Given the description of an element on the screen output the (x, y) to click on. 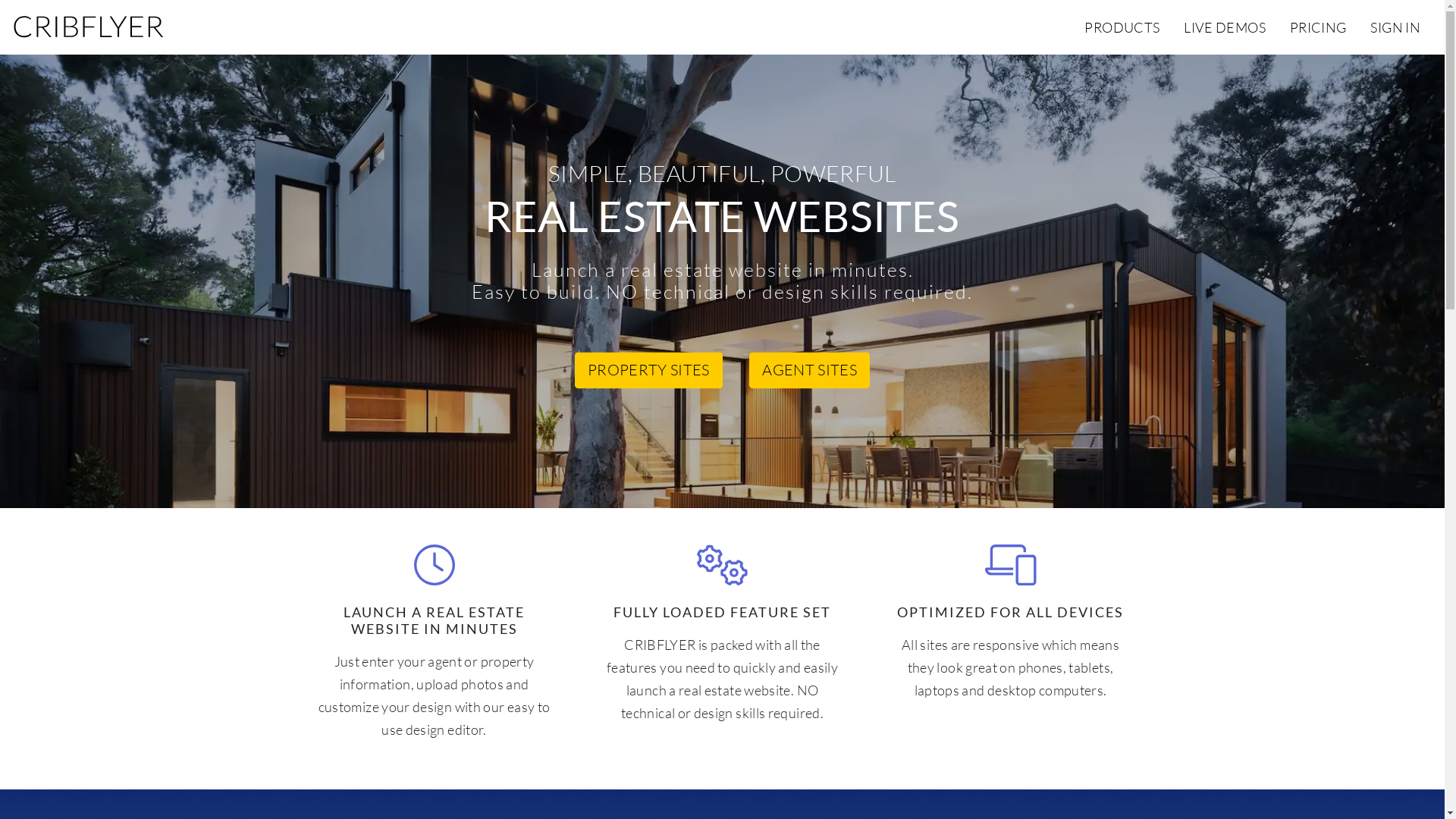
LIVE DEMOS Element type: text (1224, 27)
PRICING Element type: text (1317, 27)
AGENT SITES Element type: text (809, 370)
SIGN IN Element type: text (1395, 27)
PRODUCTS Element type: text (1121, 27)
PROPERTY SITES Element type: text (648, 370)
